Given the description of an element on the screen output the (x, y) to click on. 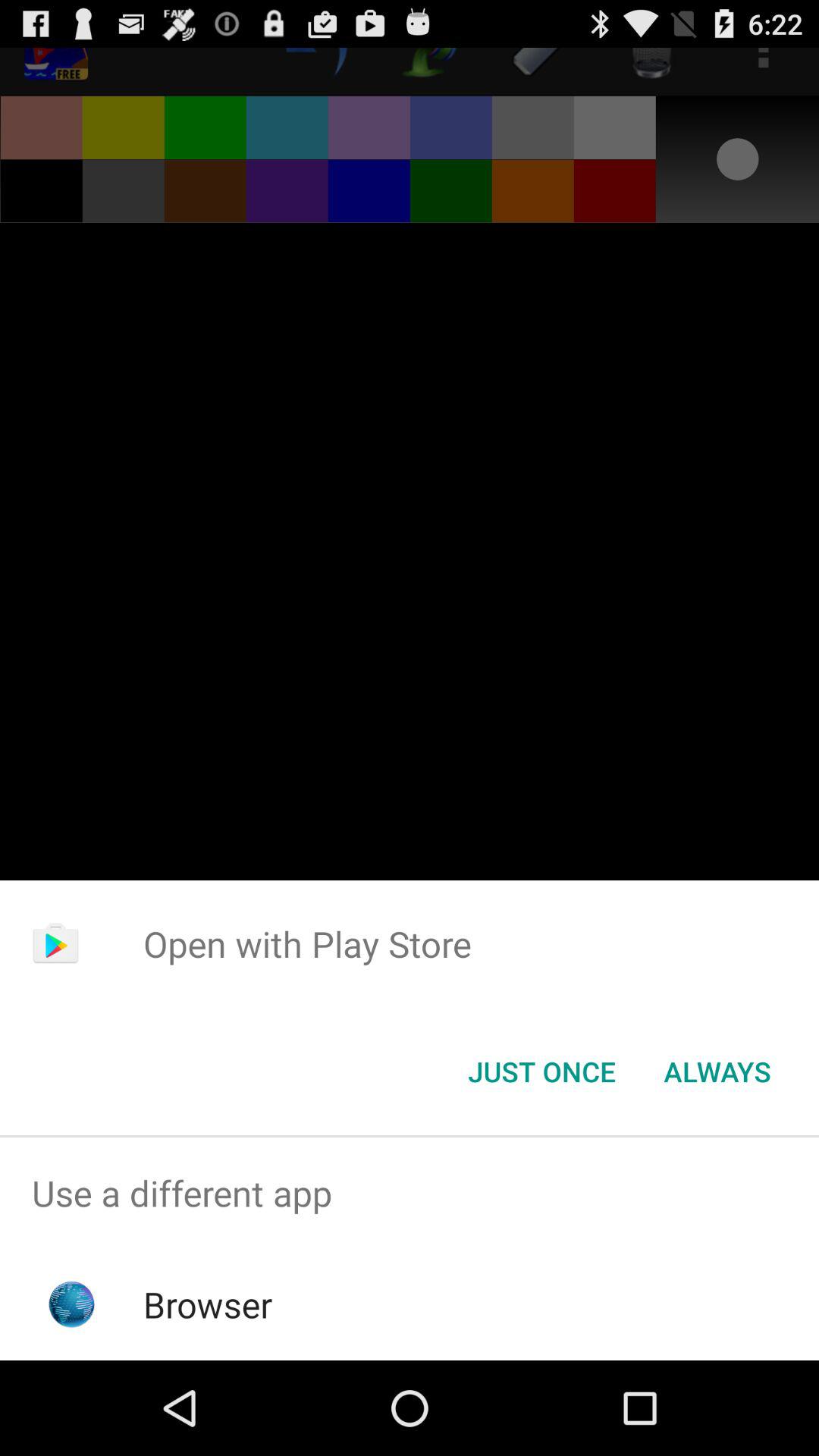
jump to the just once (541, 1071)
